Given the description of an element on the screen output the (x, y) to click on. 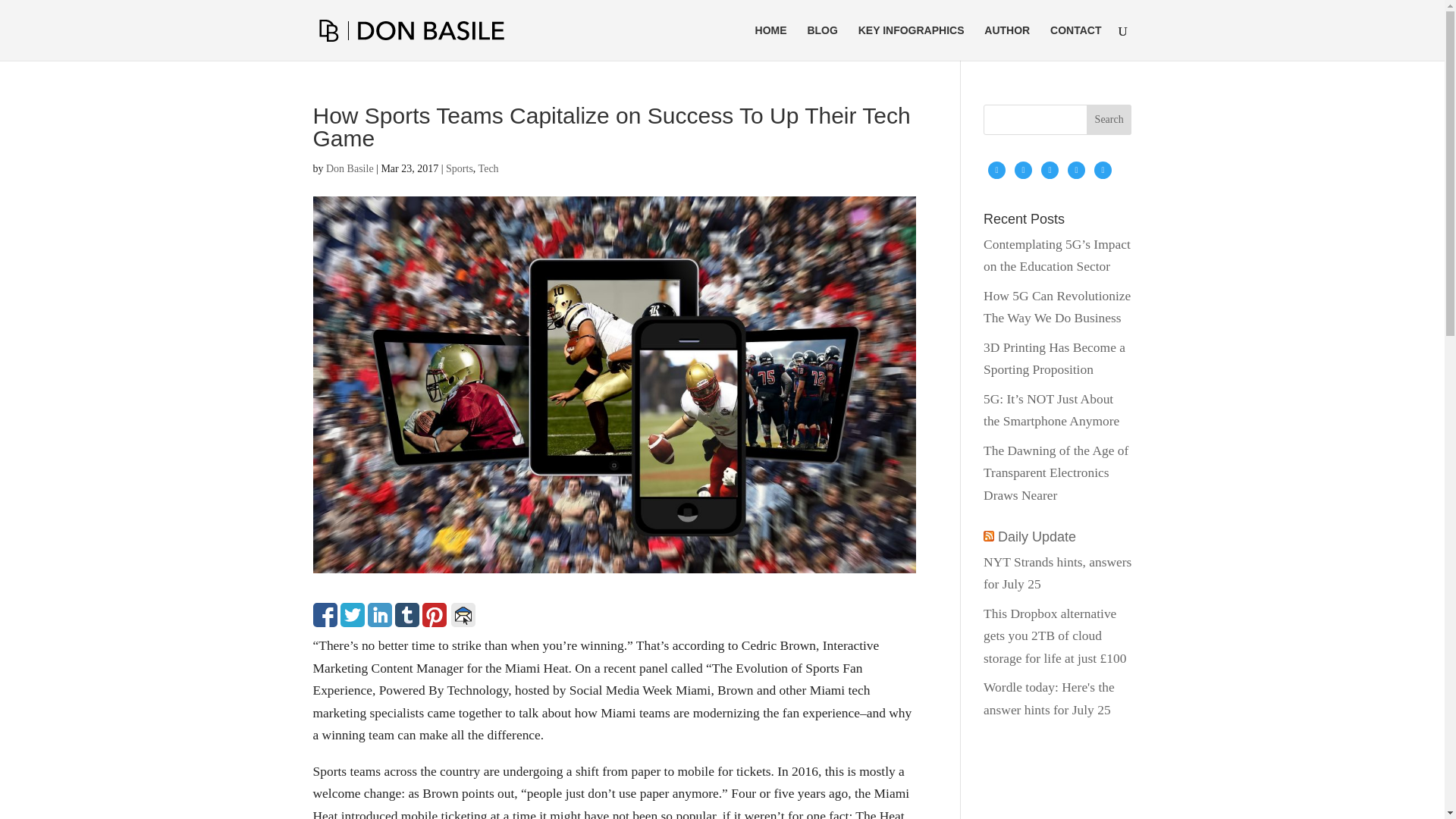
How 5G Can Revolutionize The Way We Do Business (1057, 306)
Don Basile (350, 168)
CONTACT (1074, 42)
Sports (459, 168)
HOME (771, 42)
3D Printing Has Become a Sporting Proposition (1054, 358)
Tech (489, 168)
Search (1109, 119)
Daily Update (1036, 536)
AUTHOR (1006, 42)
Wordle today: Here's the answer hints for July 25 (1049, 698)
Search (1109, 119)
Posts by Don Basile (350, 168)
NYT Strands hints, answers for July 25 (1057, 573)
